Given the description of an element on the screen output the (x, y) to click on. 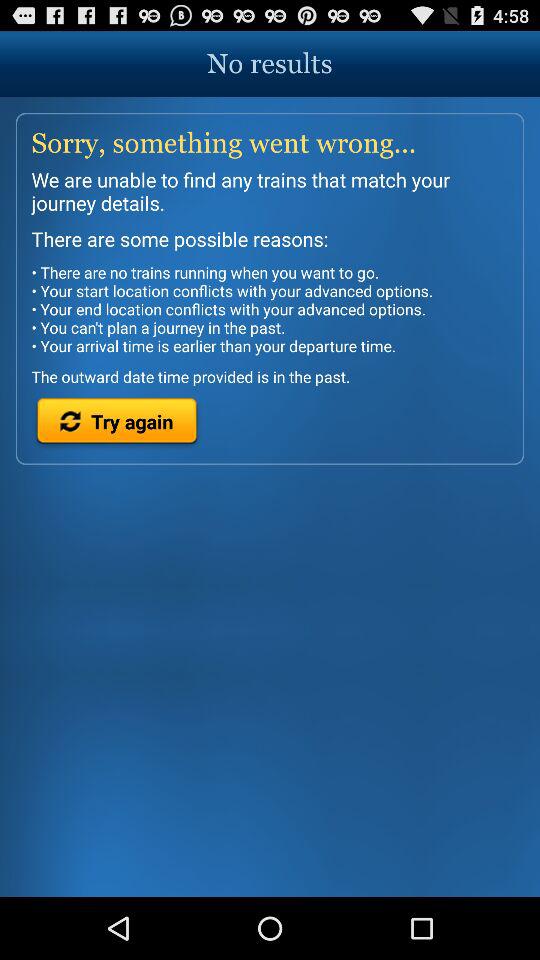
open the item below the the outward date icon (116, 423)
